Given the description of an element on the screen output the (x, y) to click on. 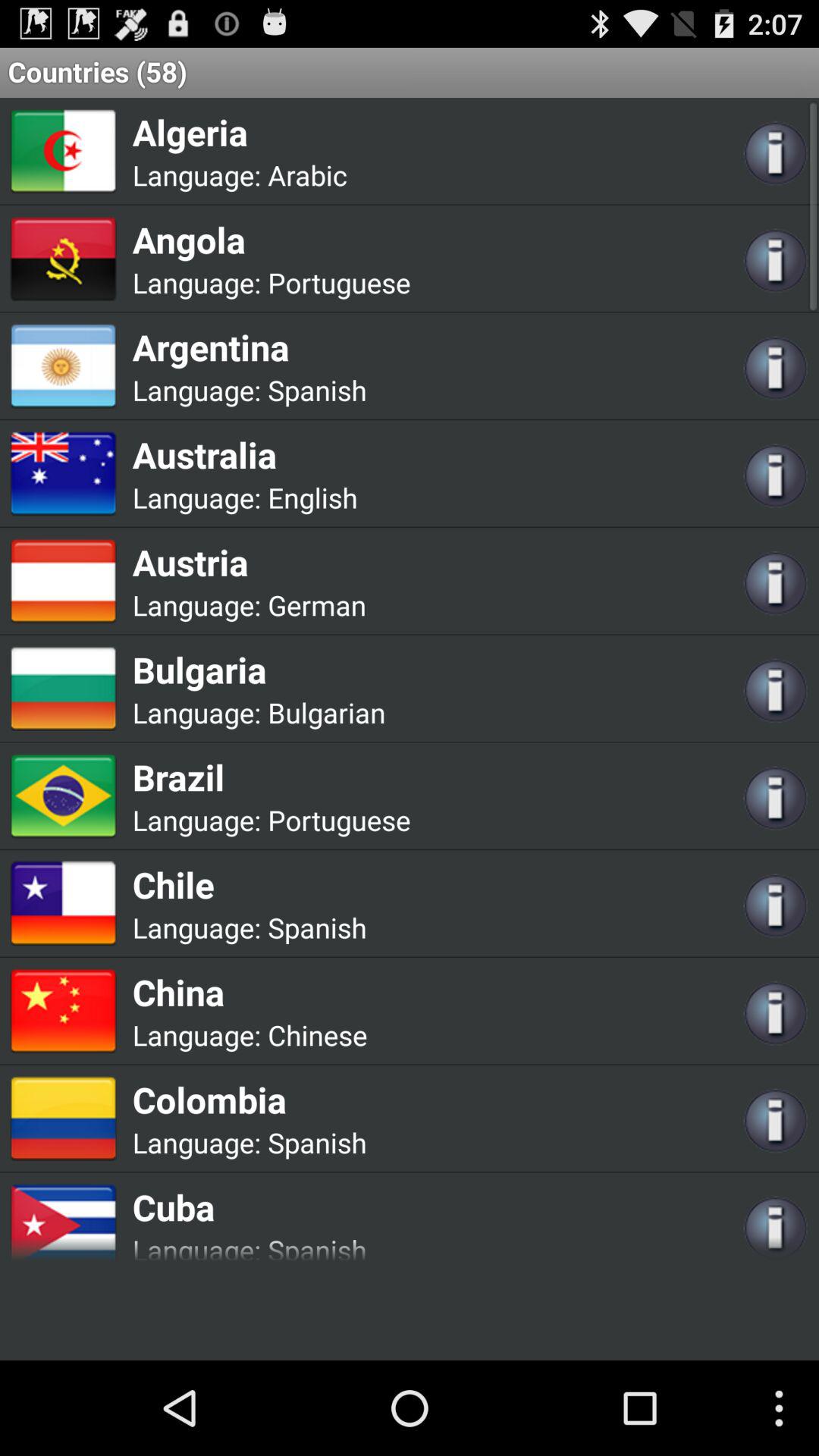
click the item above language:  item (239, 132)
